Given the description of an element on the screen output the (x, y) to click on. 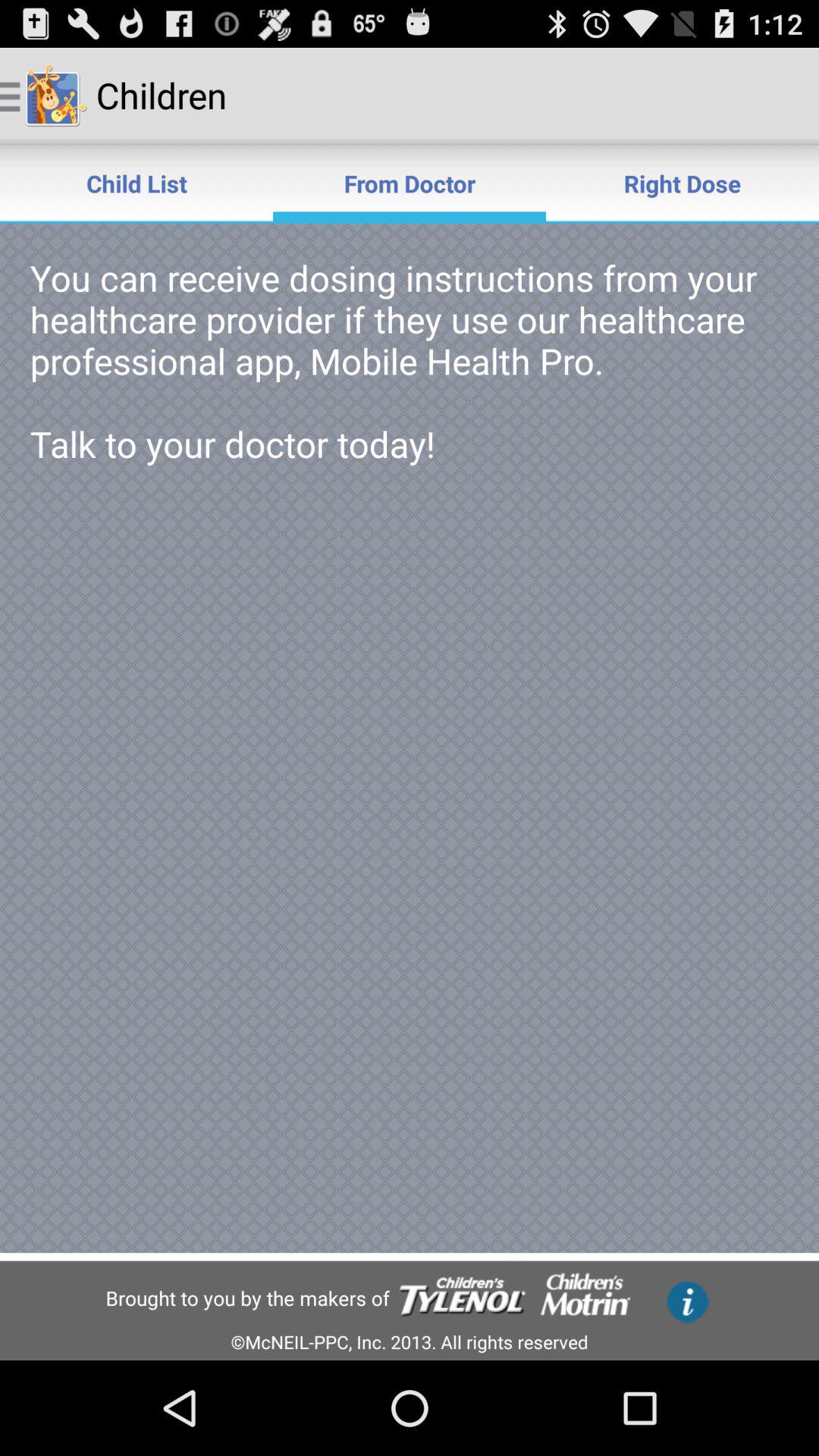
swipe until the right dose icon (682, 183)
